Given the description of an element on the screen output the (x, y) to click on. 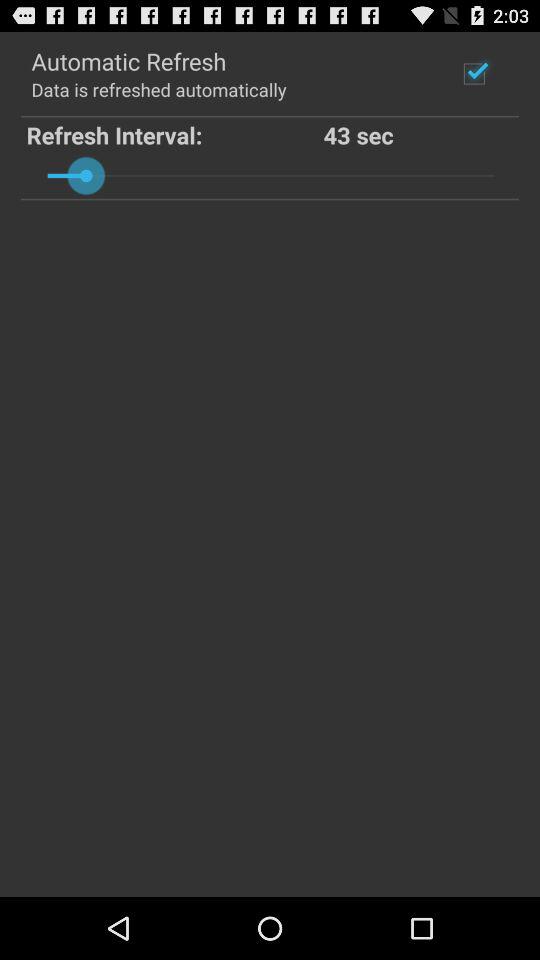
choose item next to 43 sec item (174, 134)
